Given the description of an element on the screen output the (x, y) to click on. 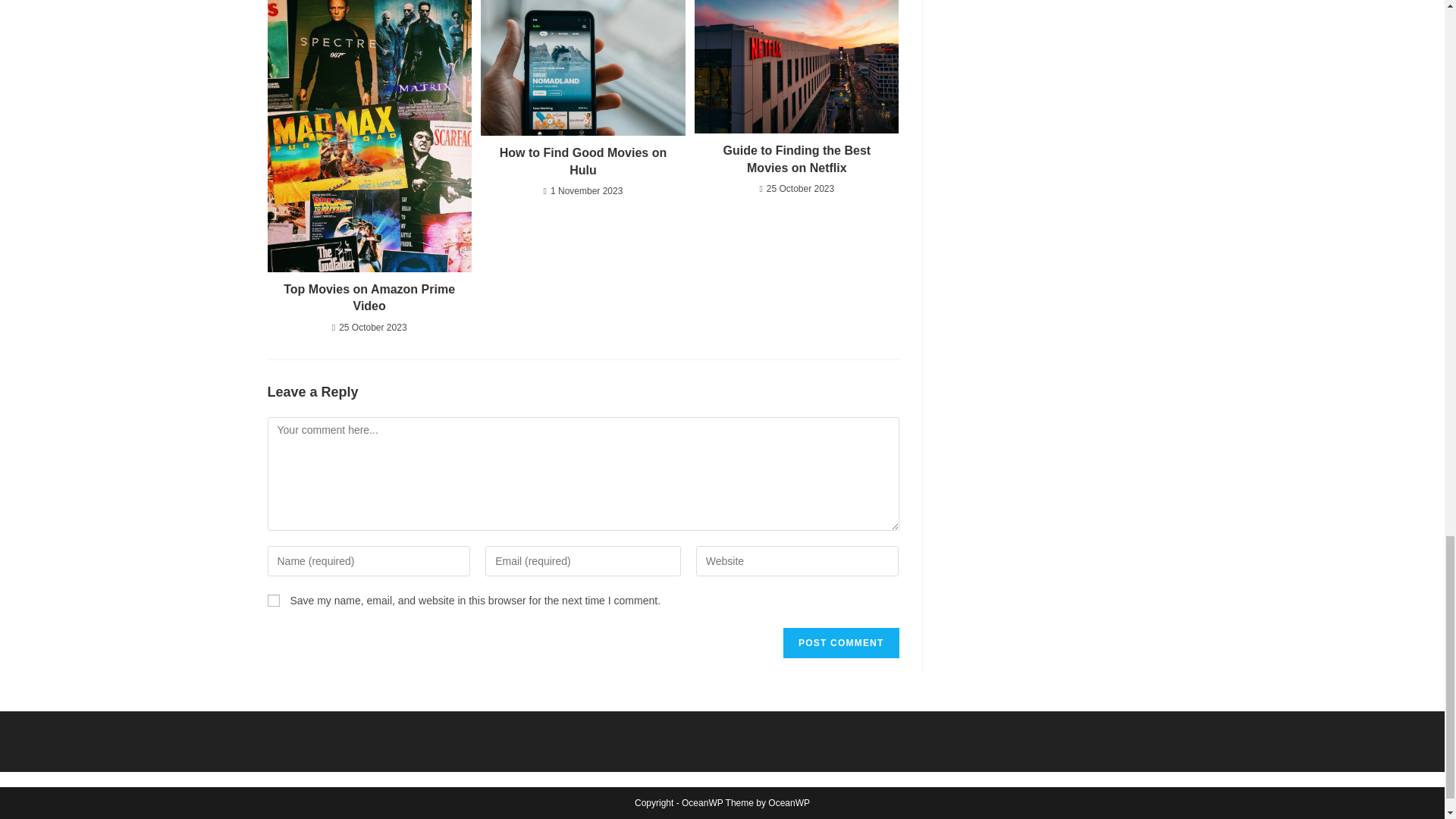
Post Comment (840, 643)
Guide to Finding the Best Movies on Netflix (796, 159)
Post Comment (840, 643)
Top Movies on Amazon Prime Video (368, 298)
How to Find Good Movies on Hulu (582, 161)
yes (272, 600)
